Given the description of an element on the screen output the (x, y) to click on. 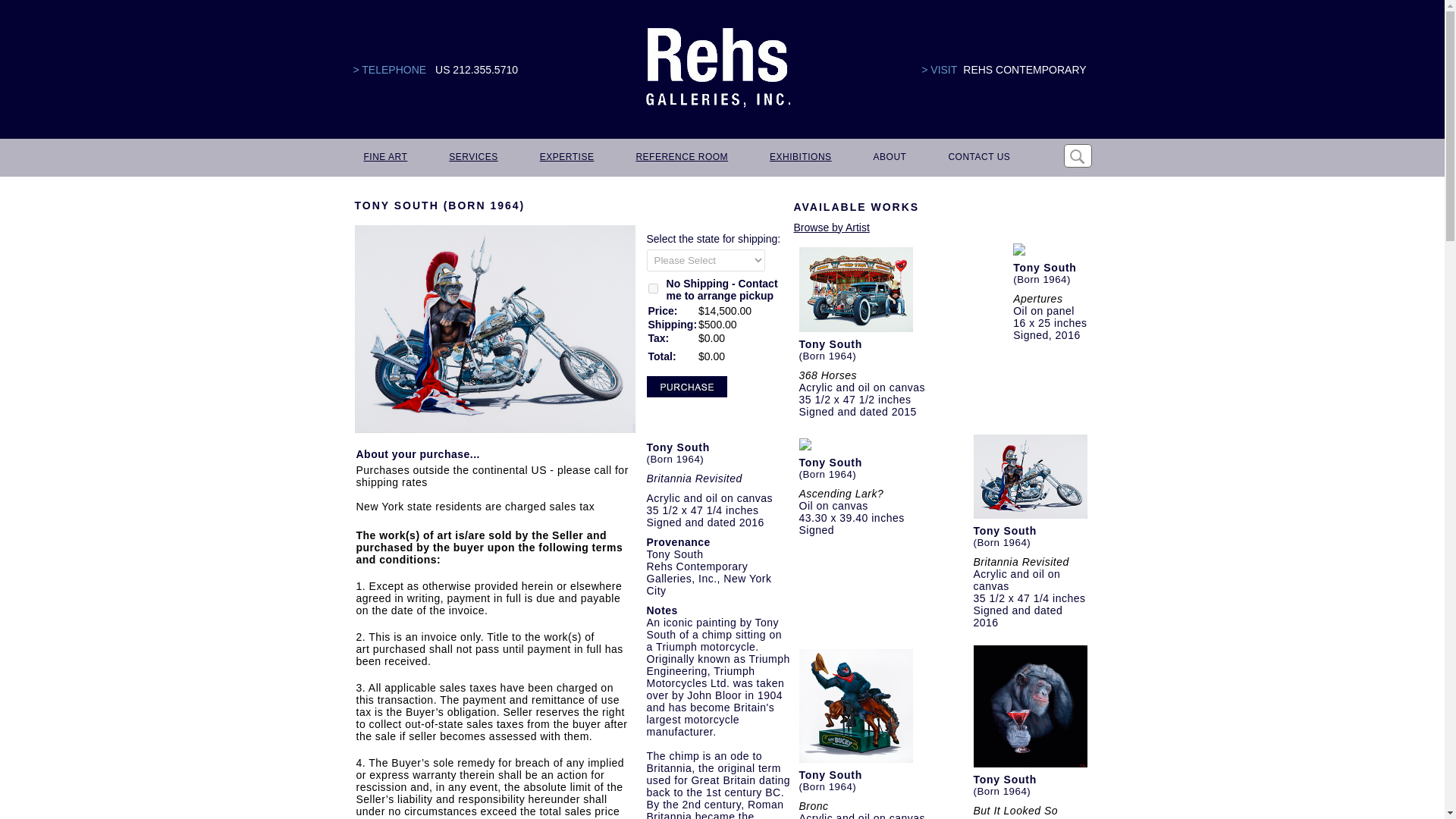
Logo (717, 67)
on (652, 288)
Browse by Artist (831, 227)
Apertures (1037, 298)
REHS CONTEMPORARY (1024, 69)
EXPERTISE (566, 157)
EXHIBITIONS (799, 157)
368 Horses (828, 375)
CONTACT US (978, 157)
SERVICES (472, 157)
REFERENCE ROOM (680, 157)
FINE ART (384, 157)
ABOUT (889, 157)
